Given the description of an element on the screen output the (x, y) to click on. 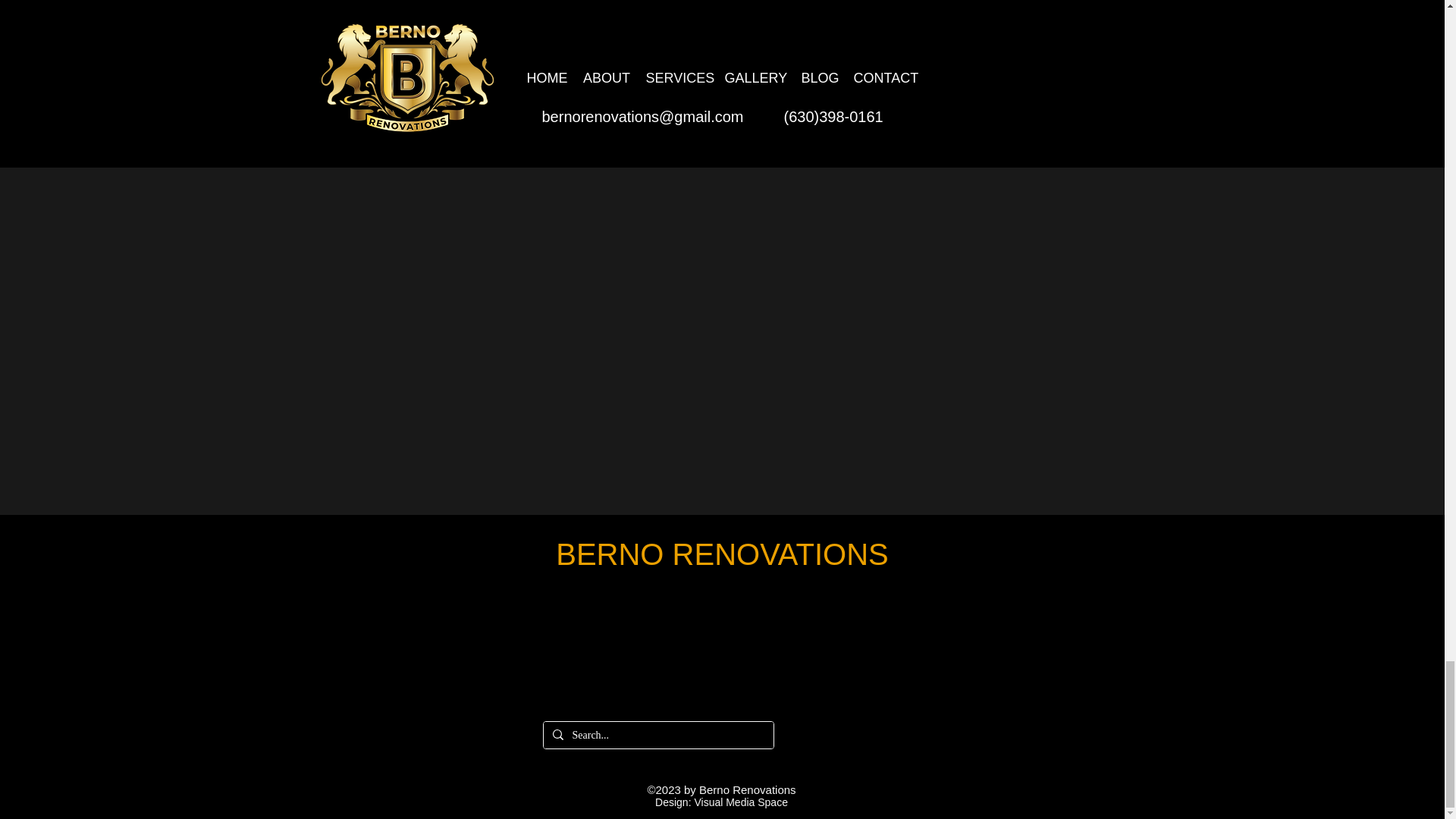
BERNO RENOVATIONS (722, 553)
